Given the description of an element on the screen output the (x, y) to click on. 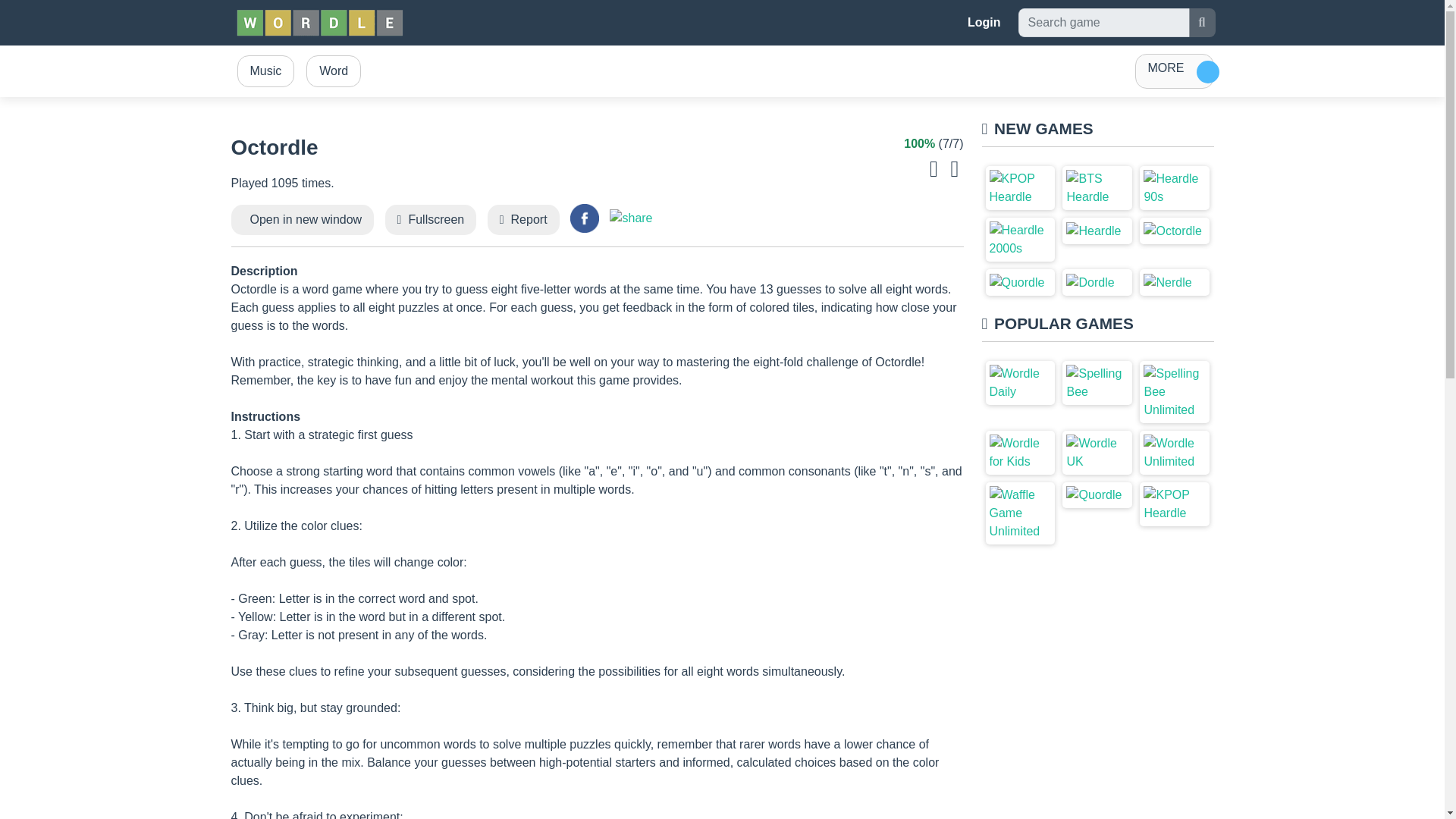
MORE (1173, 71)
Open in new window (306, 219)
Word (332, 71)
Report (529, 219)
Fullscreen (435, 219)
Music (264, 71)
Login (983, 22)
